Given the description of an element on the screen output the (x, y) to click on. 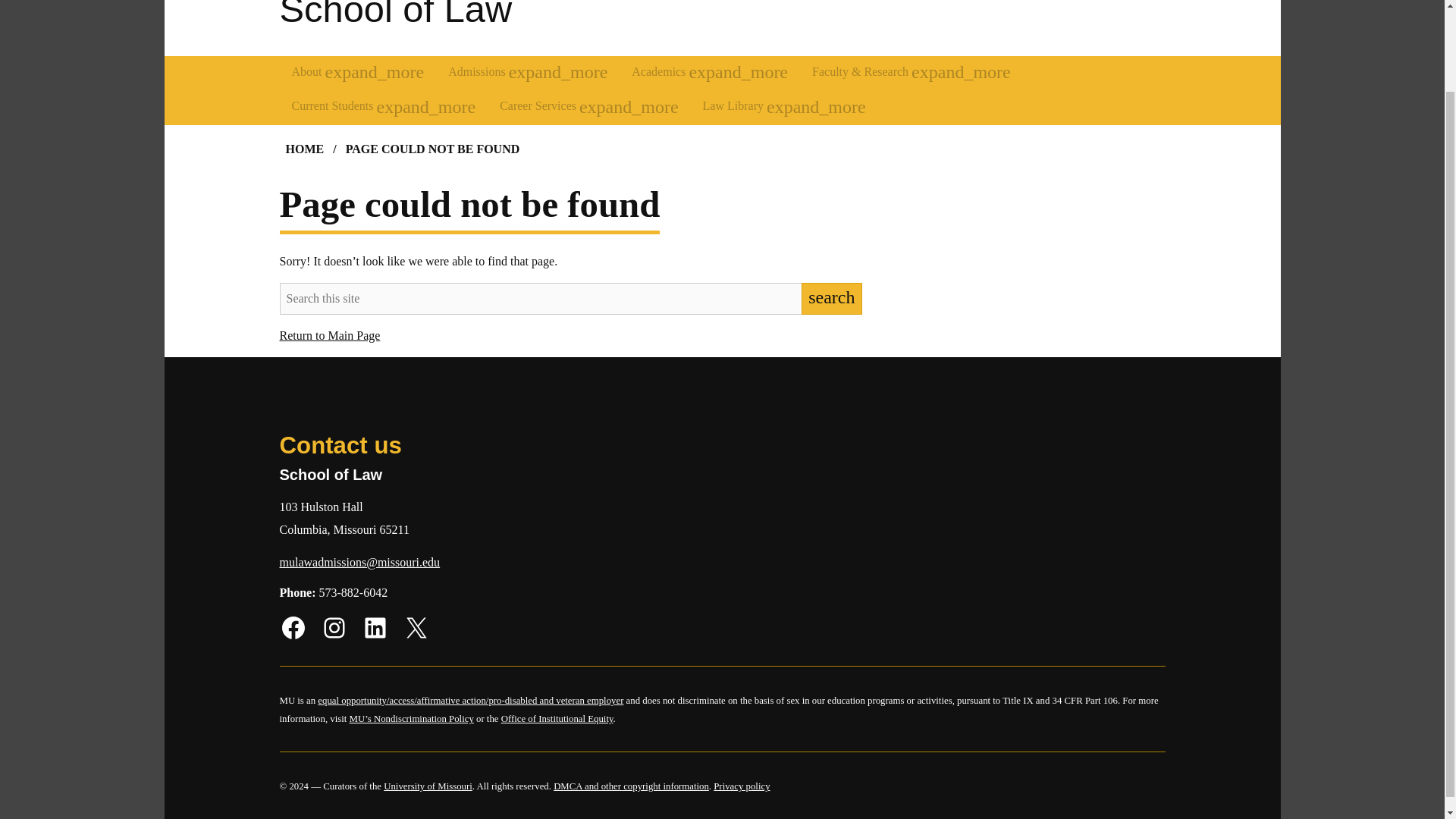
School of Law (395, 14)
School of Law (395, 14)
